Given the description of an element on the screen output the (x, y) to click on. 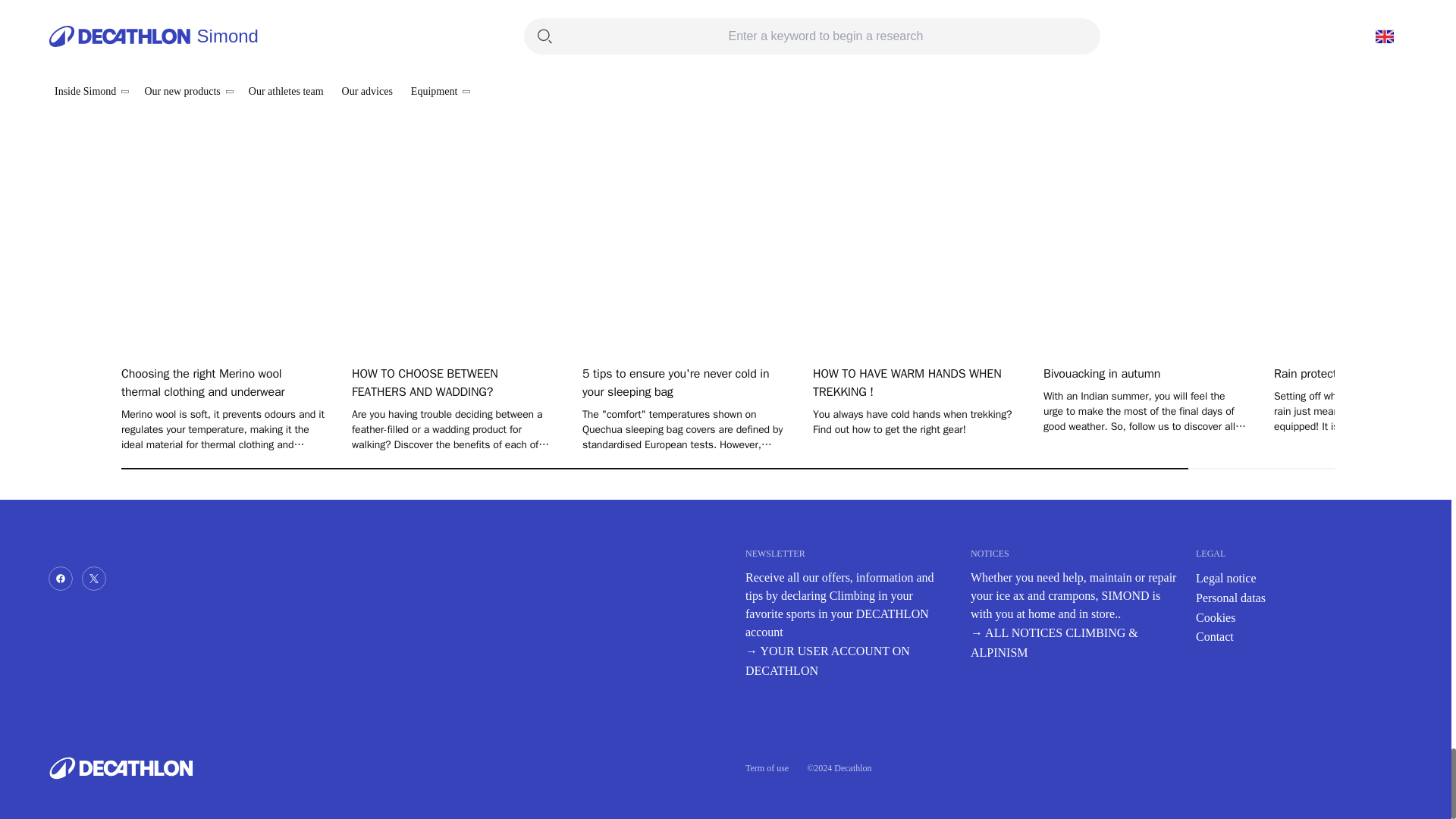
HOW TO HAVE WARM HANDS WHEN TREKKING ! (914, 382)
Legal notice (1225, 577)
Term of use (767, 767)
HOW TO CHOOSE BETWEEN FEATHERS AND WADDING? (453, 382)
Personal datas (1230, 597)
Cookies (1214, 617)
Contact (1214, 635)
5 tips to ensure you're never cold in your sleeping bag (684, 382)
Bivouacking in autumn (1144, 373)
